Given the description of an element on the screen output the (x, y) to click on. 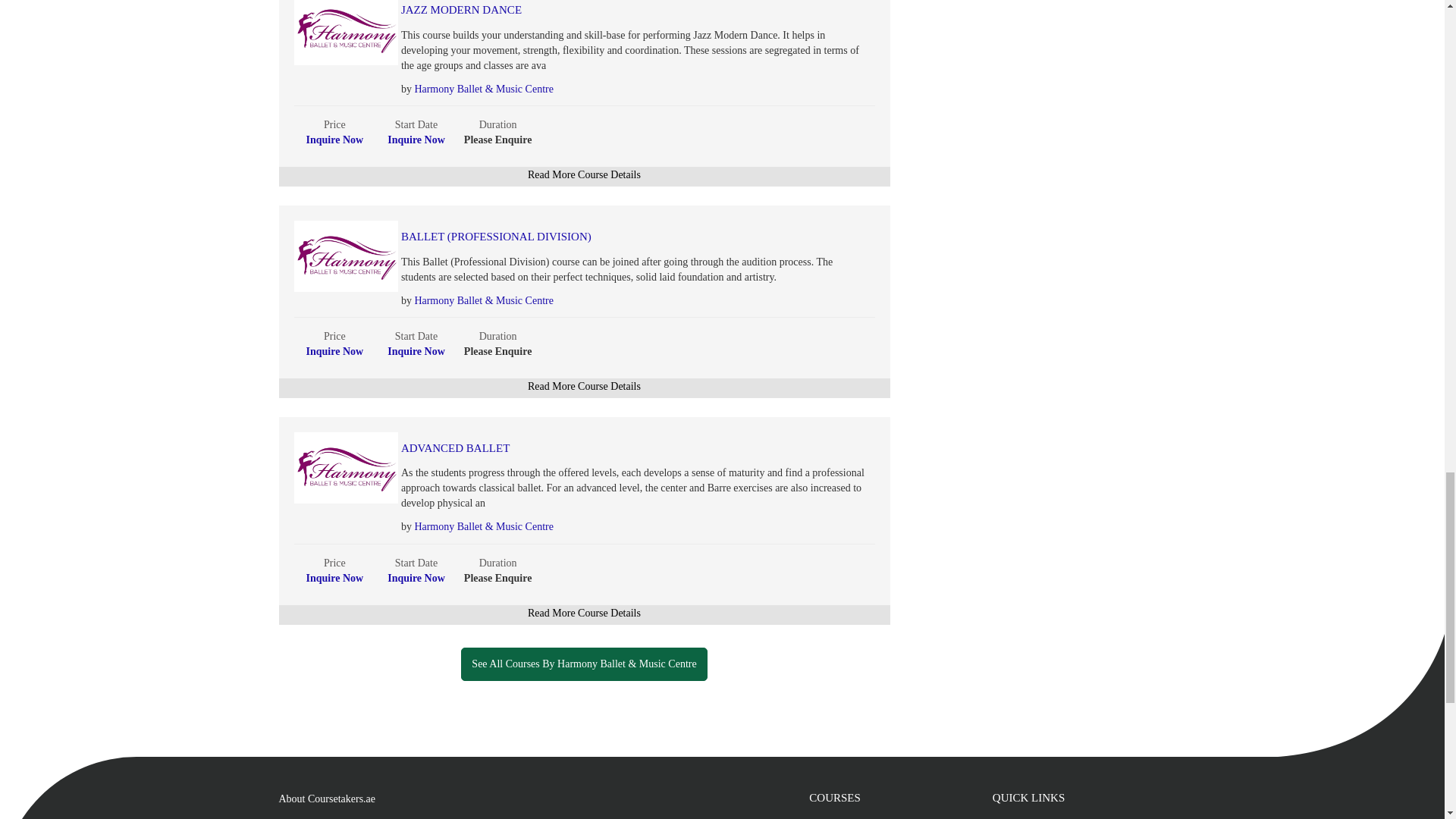
Read More Course Details (583, 386)
Inquire Now (334, 577)
Inquire Now (334, 351)
Inquire Now (416, 351)
Advanced Ballet (602, 448)
ADVANCED BALLET (602, 448)
Read More Course Details (583, 174)
JAZZ MODERN DANCE (602, 10)
Jazz Modern Dance (602, 10)
Inquire Now (416, 139)
Inquire Now (334, 139)
